Given the description of an element on the screen output the (x, y) to click on. 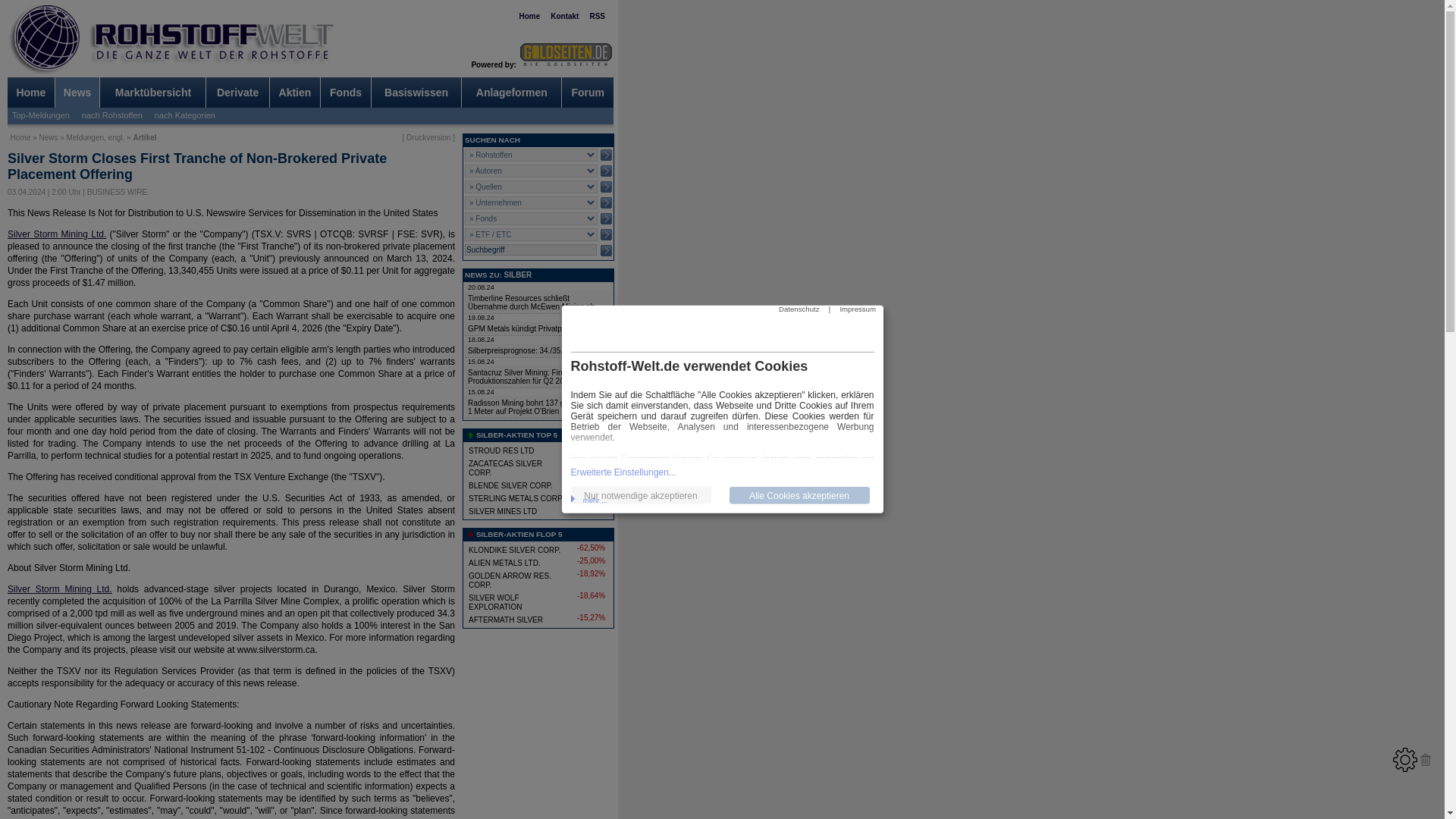
Silver Storm Mining Ltd. (59, 588)
nach Rohstoffen (112, 113)
Basiswissen (416, 92)
Kontakt (563, 16)
BUSINESS WIRE (117, 192)
Home (30, 92)
Artikel (143, 137)
nach Kategorien (184, 113)
RSS (597, 16)
Aktien (295, 92)
